Given the description of an element on the screen output the (x, y) to click on. 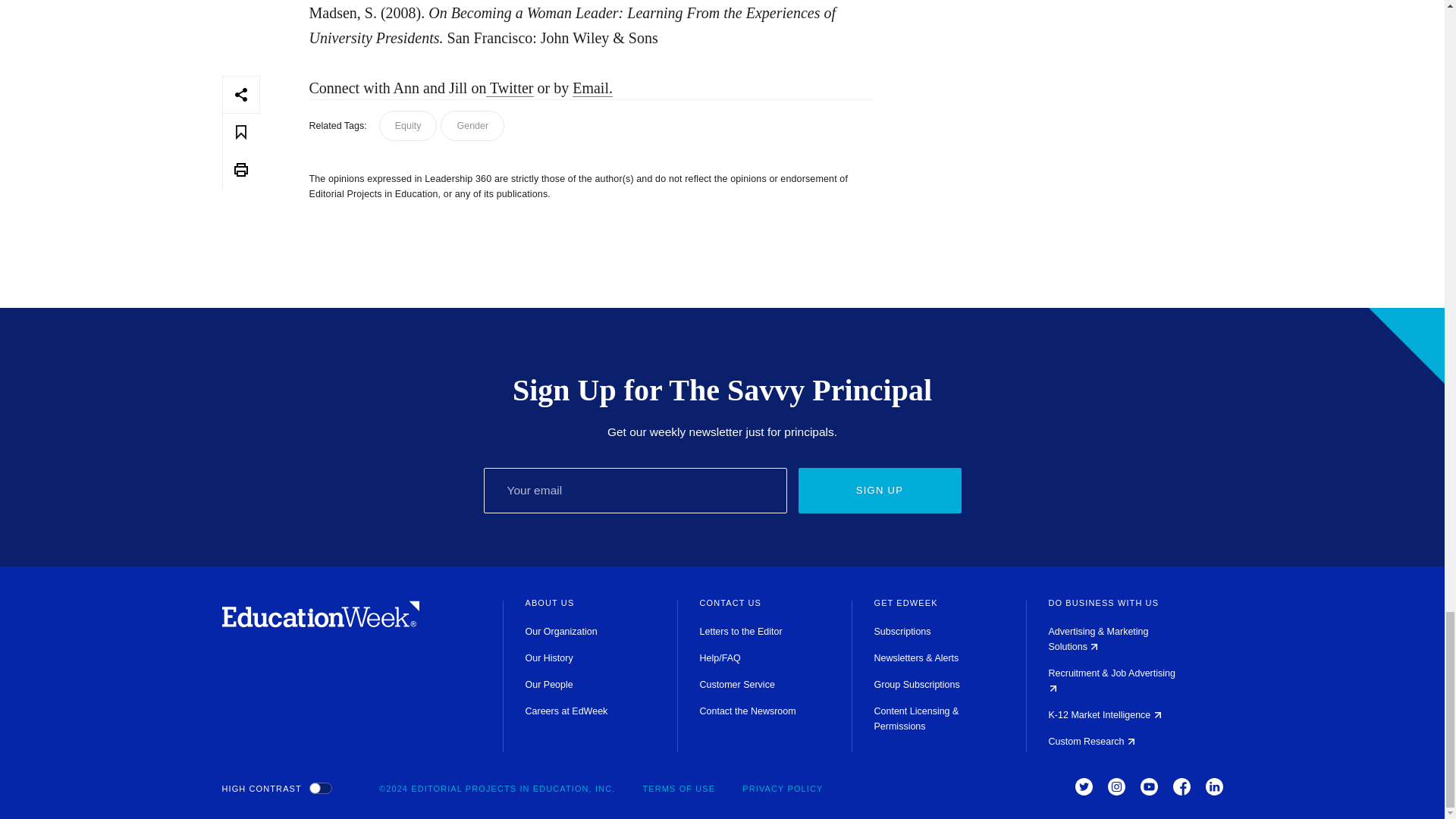
Homepage (320, 623)
